Given the description of an element on the screen output the (x, y) to click on. 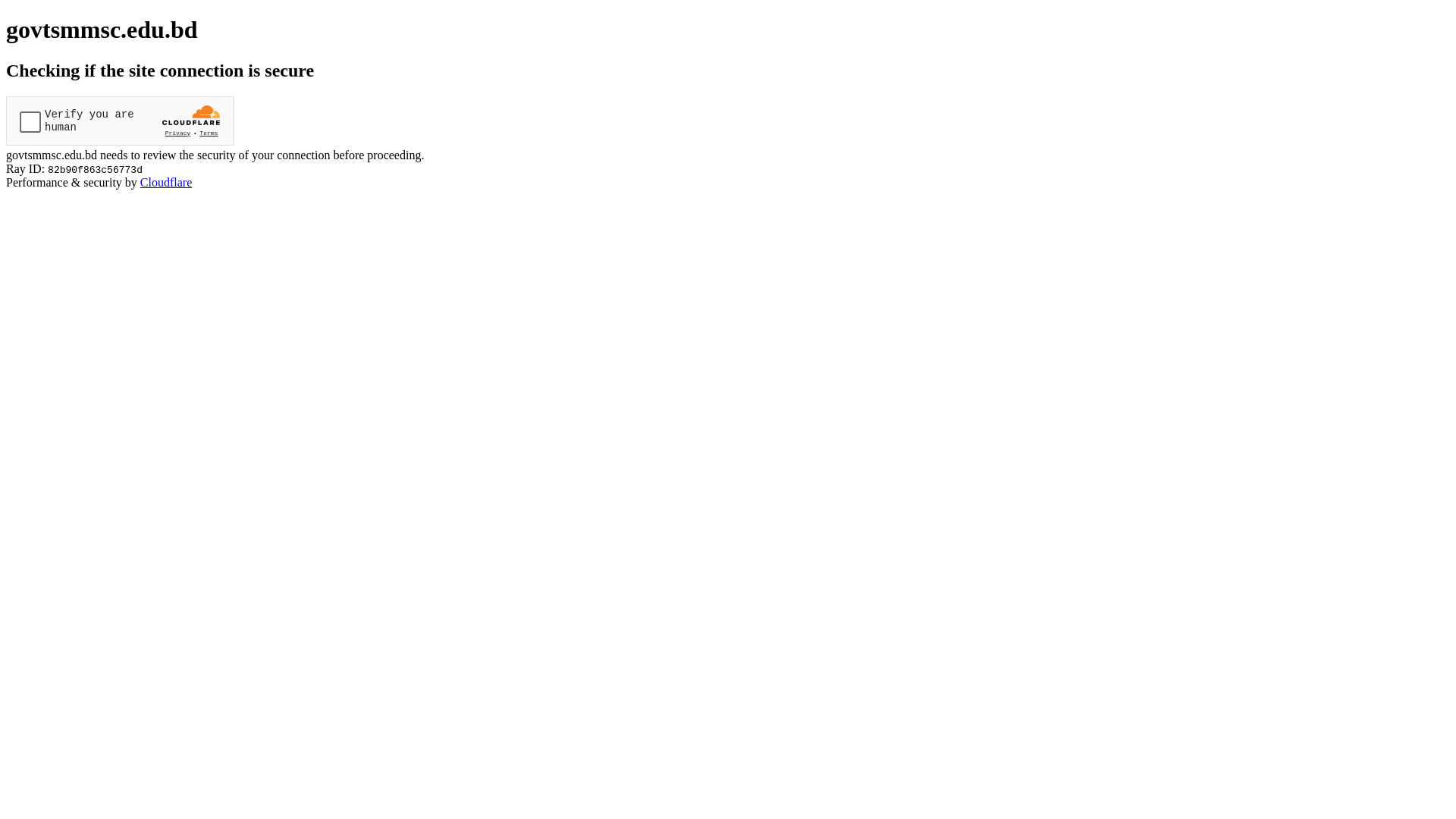
Widget containing a Cloudflare security challenge Element type: hover (119, 120)
Cloudflare Element type: text (165, 181)
